Given the description of an element on the screen output the (x, y) to click on. 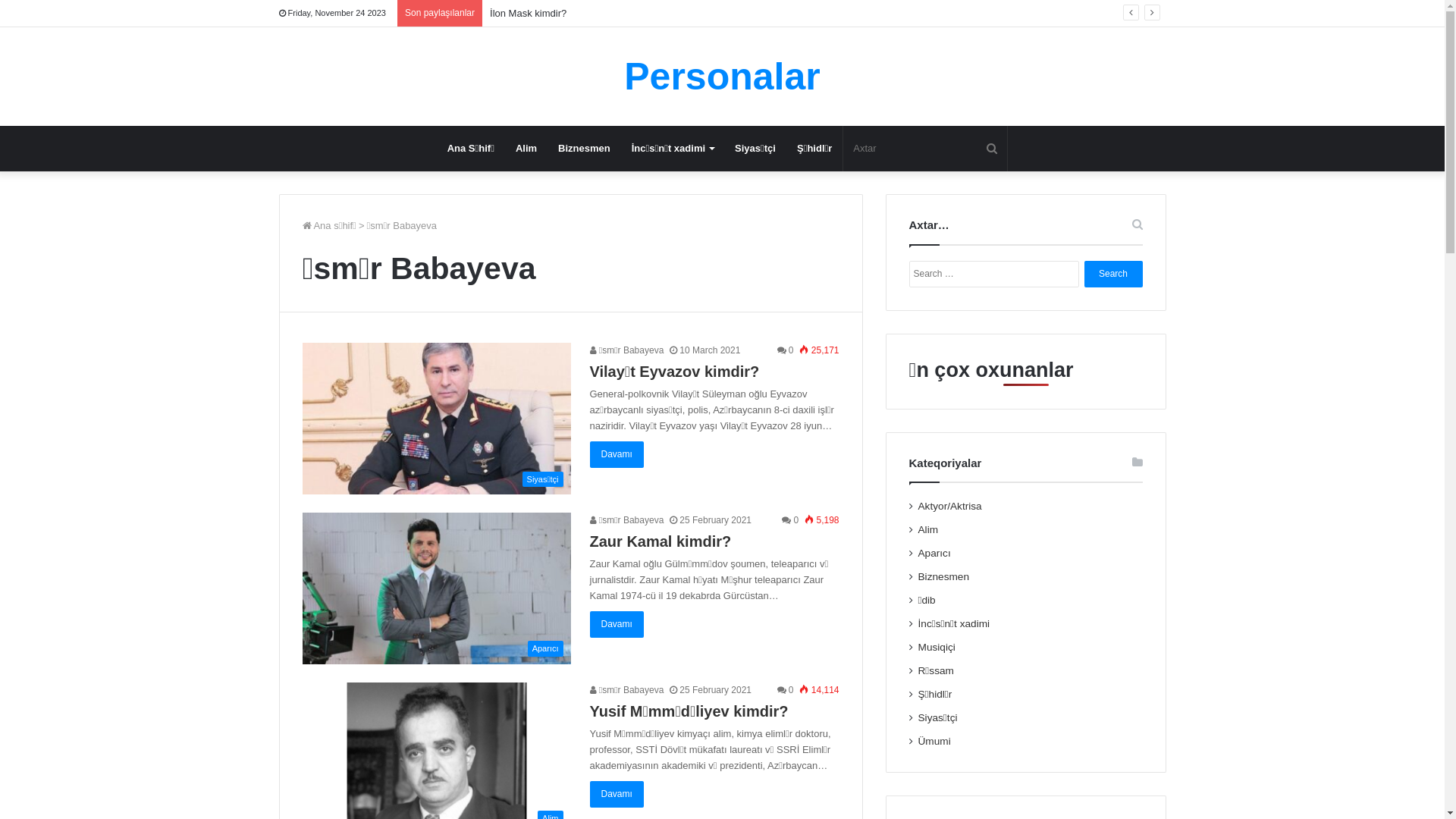
Zaur Kamal kimdir? Element type: text (660, 541)
Alim Element type: text (526, 148)
Aktyor/Aktrisa Element type: text (950, 506)
Alim Element type: text (928, 529)
Axtar Element type: text (991, 148)
Kurt Kobain kimdir? Element type: text (532, 12)
Axtar Element type: hover (925, 148)
Biznesmen Element type: text (943, 576)
Search Element type: text (1113, 273)
Biznesmen Element type: text (584, 148)
Personalar Element type: text (721, 76)
